Given the description of an element on the screen output the (x, y) to click on. 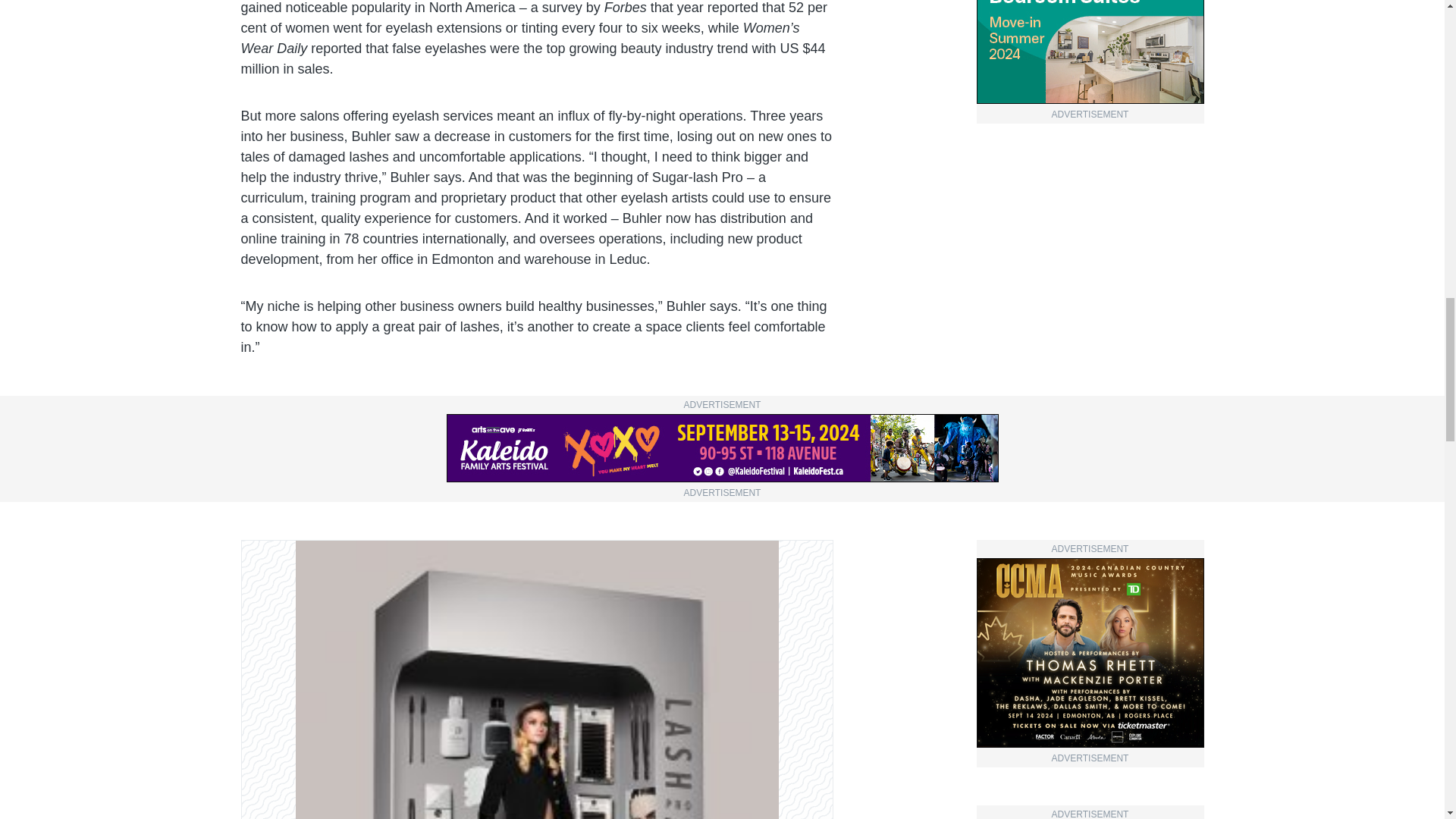
Canadian Country Music Association August BB.August2024 (1090, 652)
Qualico Communities and Developments BB.May2024 v2 (1090, 52)
Arts on the Ave Edmonton Society LB.September2024 (721, 448)
